Given the description of an element on the screen output the (x, y) to click on. 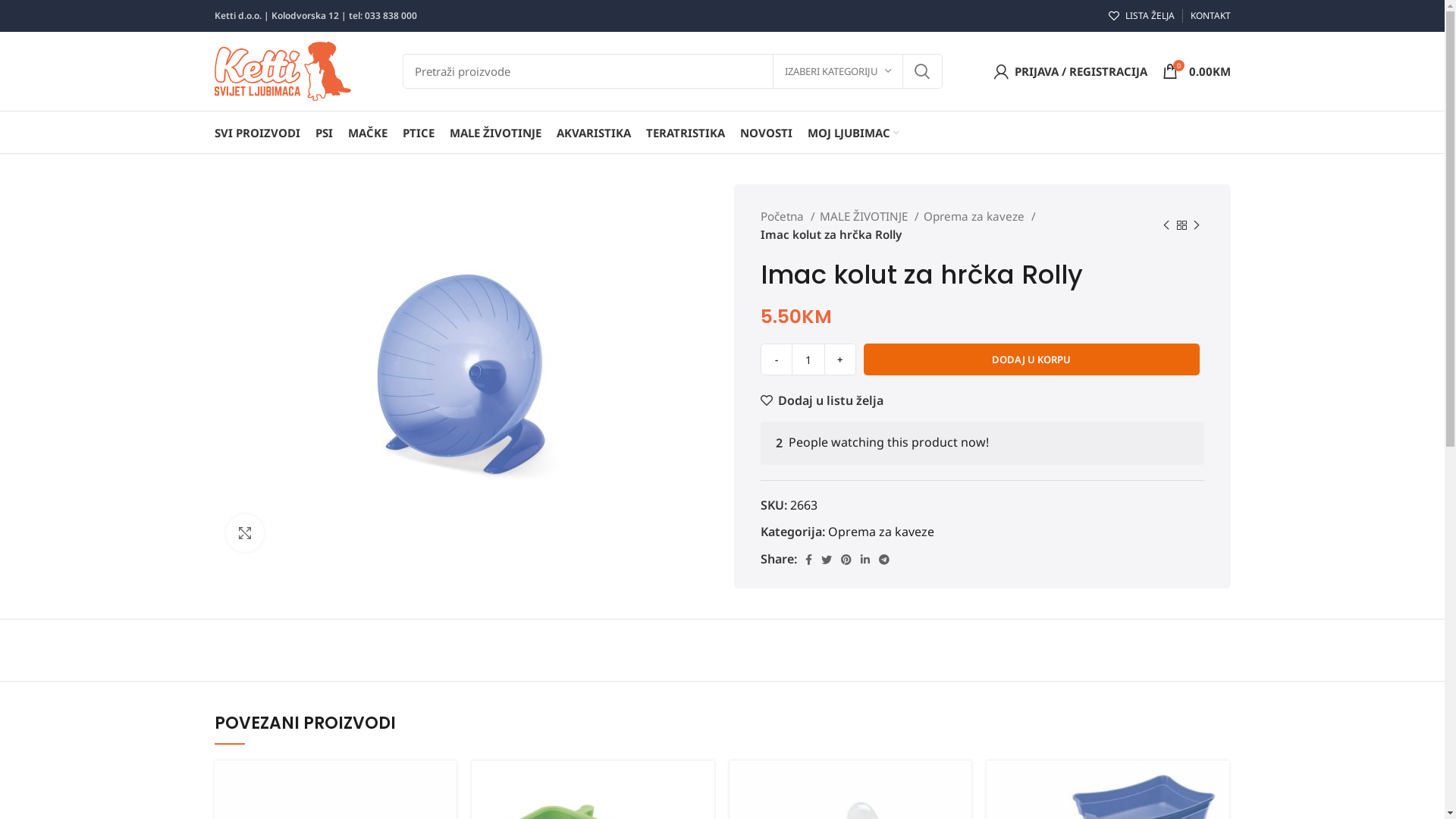
KONTAKT Element type: text (1209, 15)
SVI PROIZVODI Element type: text (256, 131)
0
0.00KM Element type: text (1195, 71)
NOVOSTI Element type: text (766, 131)
DODAJ U KORPU Element type: text (1030, 359)
IZABERI KATEGORIJU Element type: text (836, 70)
AKVARISTIKA Element type: text (593, 131)
PTICE Element type: text (417, 131)
rolly_10-500x500 Element type: hover (462, 373)
TERATRISTIKA Element type: text (685, 131)
PRIJAVA / REGISTRACIJA Element type: text (1069, 71)
Oprema za kaveze Element type: text (979, 216)
Oprema za kaveze Element type: text (881, 531)
Qty Element type: hover (807, 359)
PSI Element type: text (323, 131)
SEARCH Element type: text (921, 70)
MOJ LJUBIMAC Element type: text (852, 131)
